Given the description of an element on the screen output the (x, y) to click on. 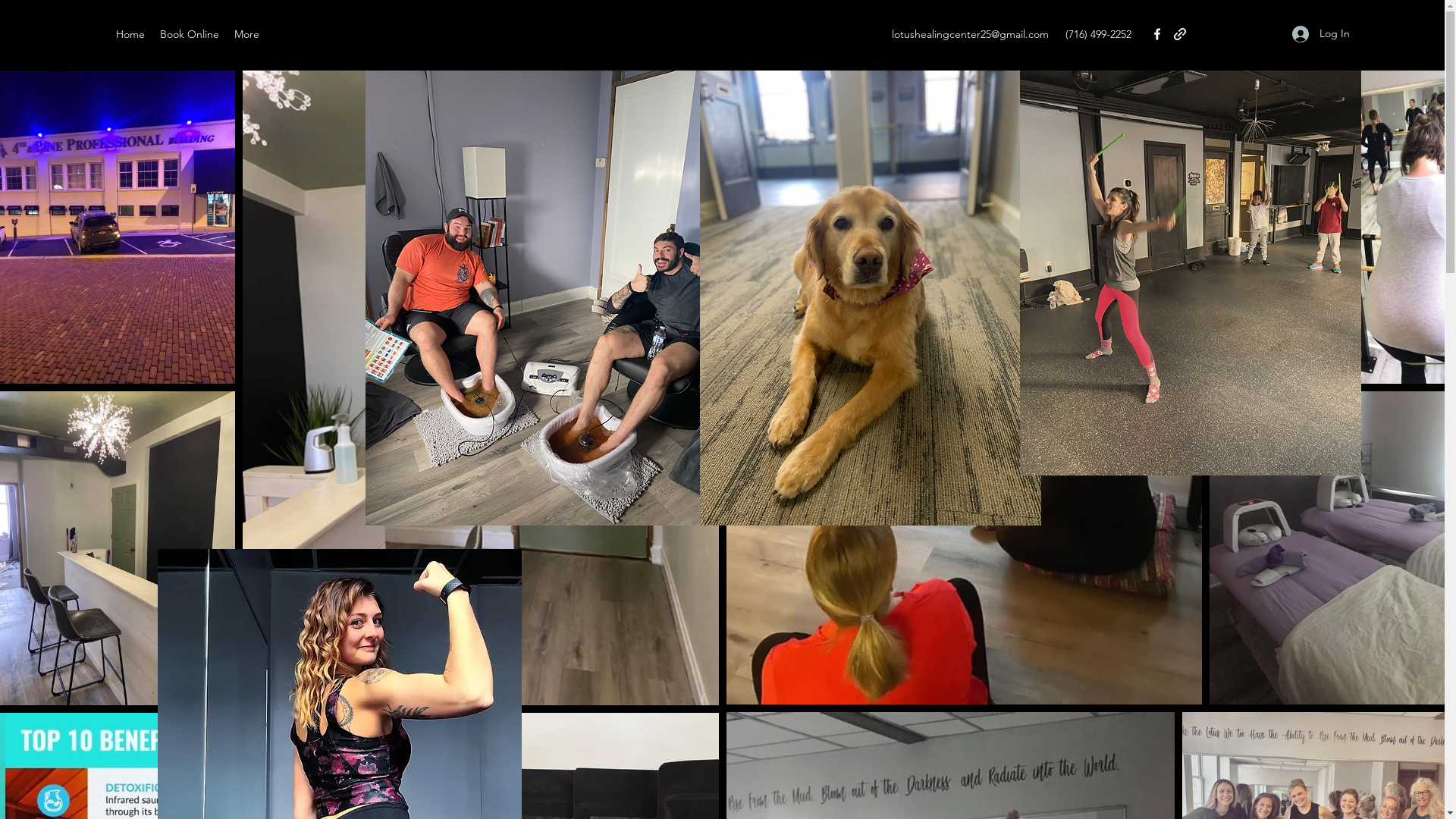
Book Online Element type: text (189, 34)
Log In Element type: text (1320, 33)
lotushealingcenter25@gmail.com Element type: text (969, 33)
IMG_6255.HEIC Element type: hover (535, 297)
IMG_6836.HEIC Element type: hover (1189, 247)
Home Element type: text (130, 34)
IMG_6856.HEIC Element type: hover (869, 297)
